Given the description of an element on the screen output the (x, y) to click on. 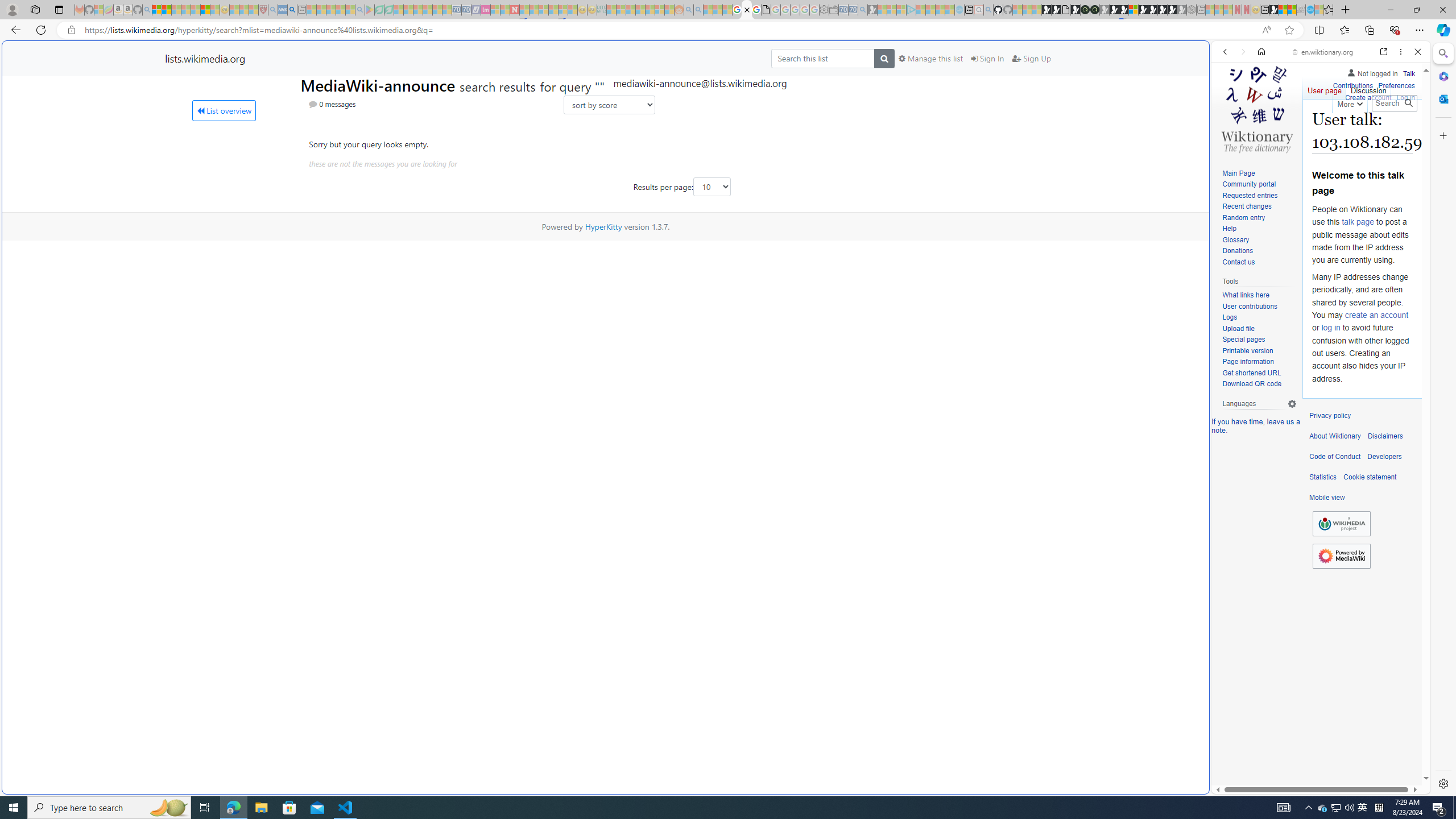
Contact us (1259, 262)
Random entry (1259, 218)
